Given the description of an element on the screen output the (x, y) to click on. 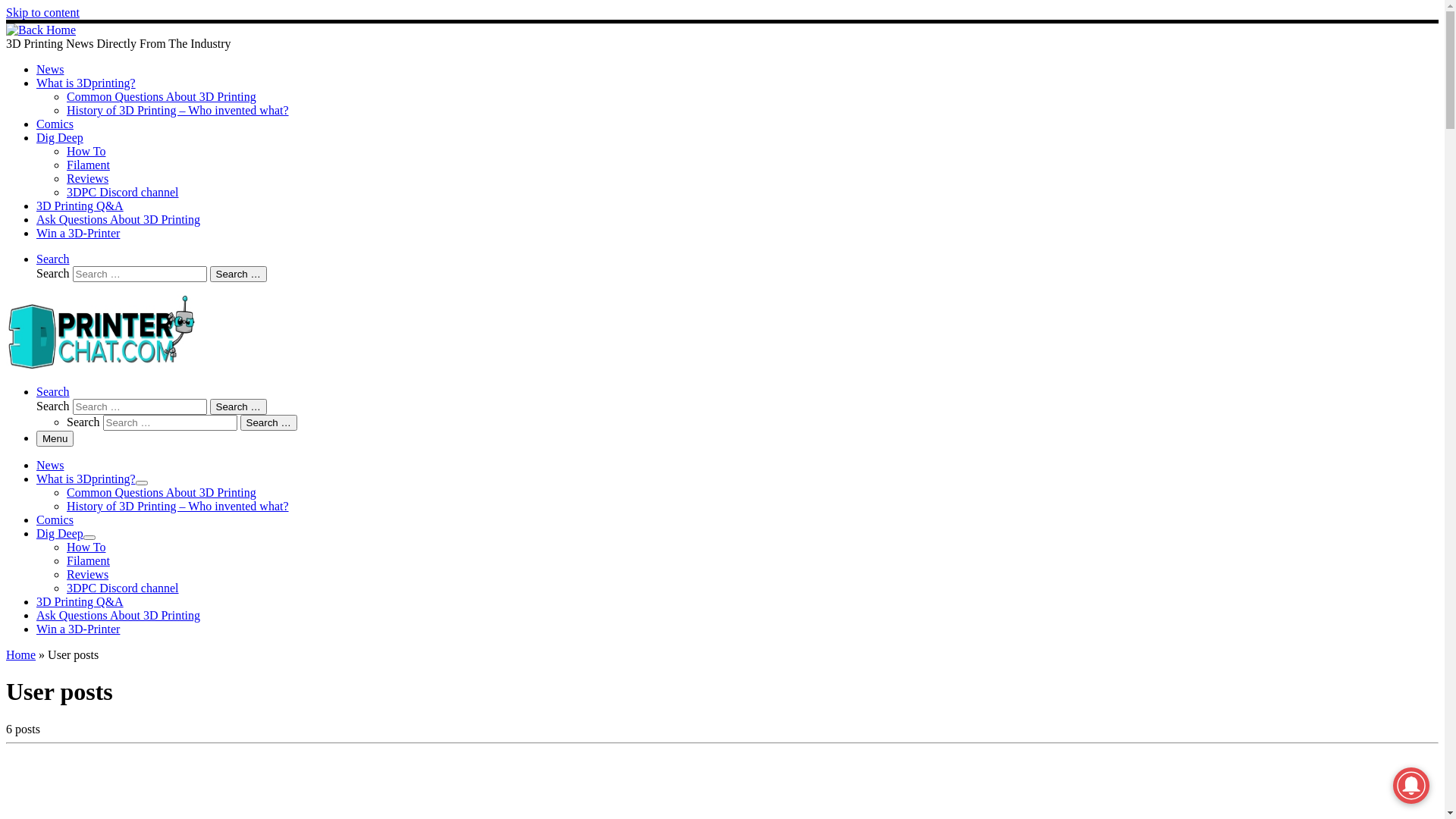
Search Element type: text (52, 258)
Ask Questions About 3D Printing Element type: text (118, 219)
News Element type: text (49, 68)
News Element type: text (49, 464)
Reviews Element type: text (87, 178)
Common Questions About 3D Printing Element type: text (161, 96)
Dig Deep Element type: text (59, 137)
Filament Element type: text (87, 560)
Skip to content Element type: text (42, 12)
3D Printing Q&A Element type: text (79, 601)
Comics Element type: text (54, 123)
3DPC Discord channel Element type: text (122, 191)
Dig Deep Element type: text (59, 533)
Reviews Element type: text (87, 573)
3D Printing Q&A Element type: text (79, 205)
Ask Questions About 3D Printing Element type: text (118, 614)
What is 3Dprinting? Element type: text (85, 478)
How To Element type: text (85, 546)
What is 3Dprinting? Element type: text (85, 82)
Home Element type: text (20, 654)
Search Element type: text (52, 391)
Filament Element type: text (87, 164)
Menu Element type: text (54, 438)
Common Questions About 3D Printing Element type: text (161, 492)
Win a 3D-Printer Element type: text (77, 232)
3DPC Discord channel Element type: text (122, 587)
Win a 3D-Printer Element type: text (77, 628)
Comics Element type: text (54, 519)
How To Element type: text (85, 150)
